Given the description of an element on the screen output the (x, y) to click on. 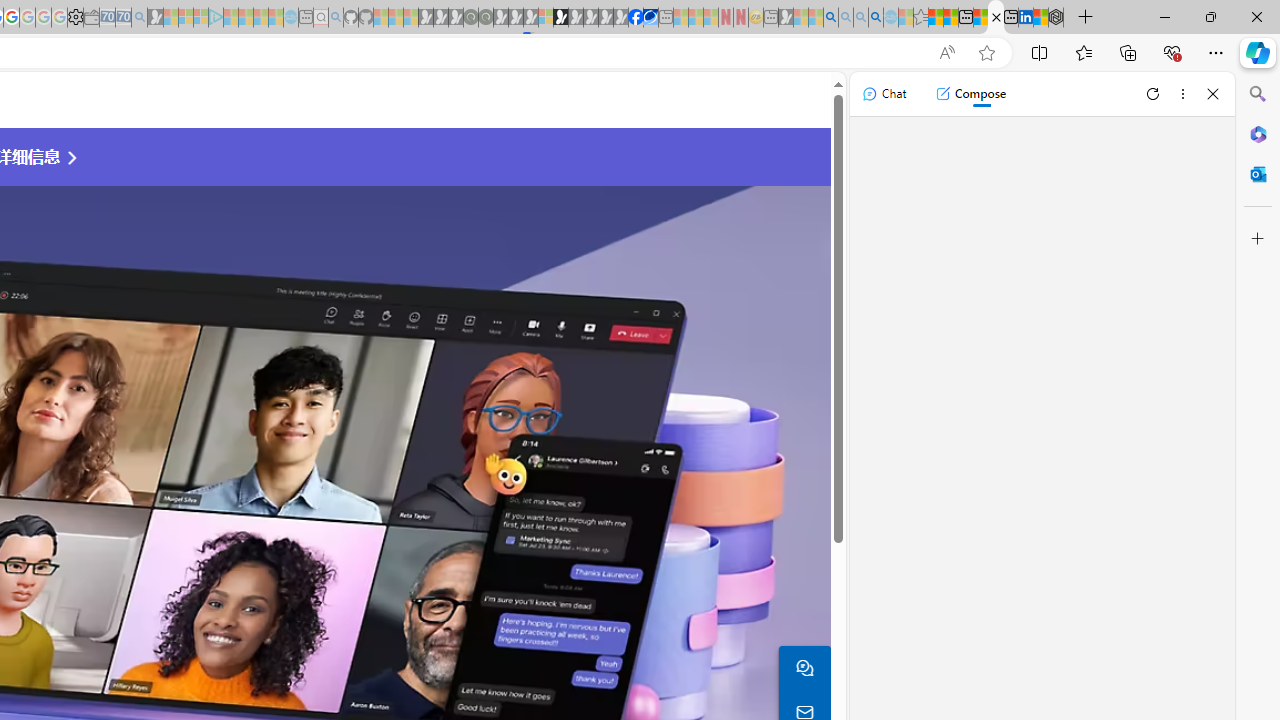
Future Focus Report 2024 - Sleeping (485, 17)
AQI & Health | AirNow.gov (650, 17)
